Given the description of an element on the screen output the (x, y) to click on. 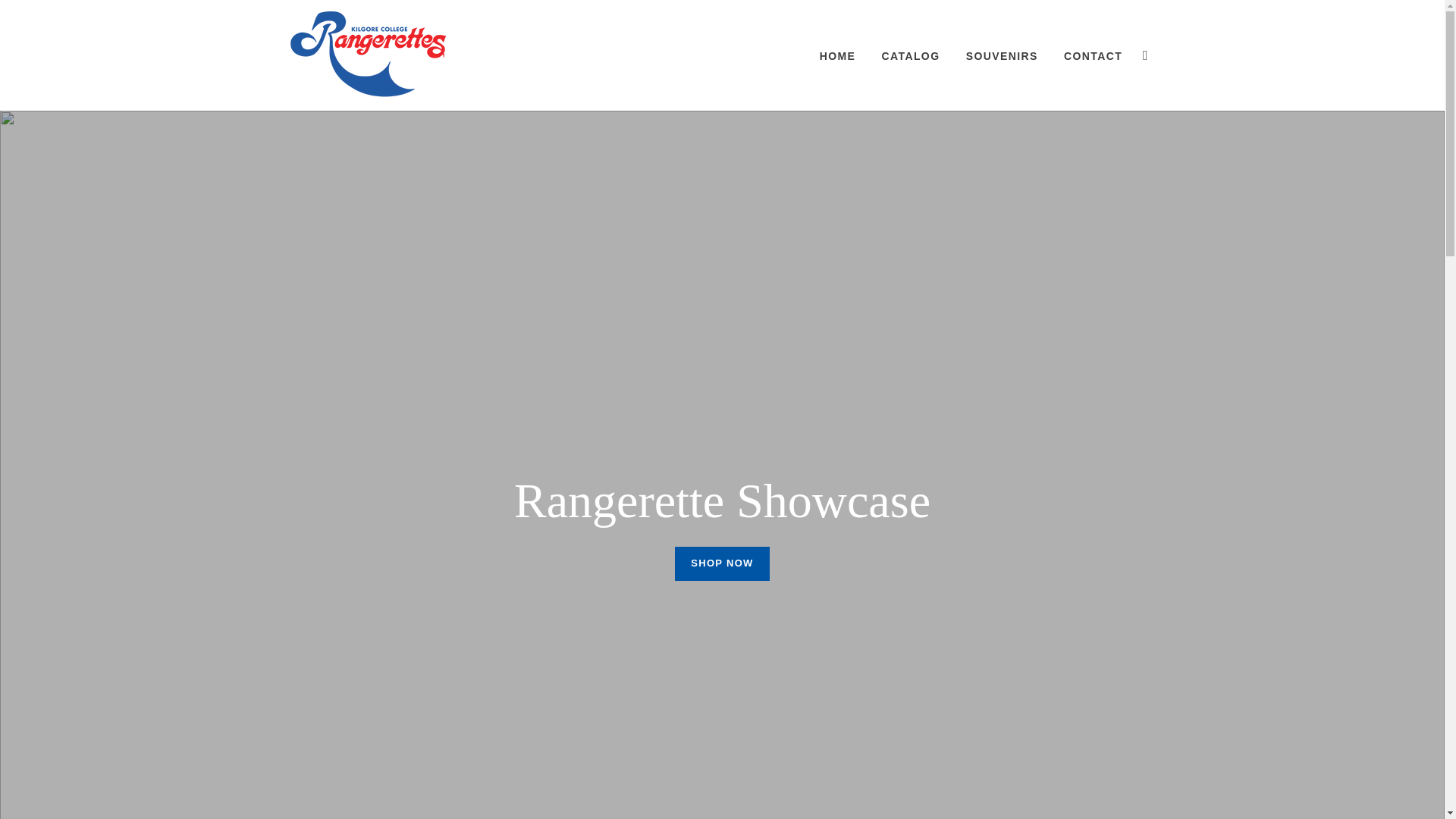
CONTACT (1093, 56)
CATALOG (911, 56)
SOUVENIRS (1002, 56)
SHOP NOW (721, 569)
